Given the description of an element on the screen output the (x, y) to click on. 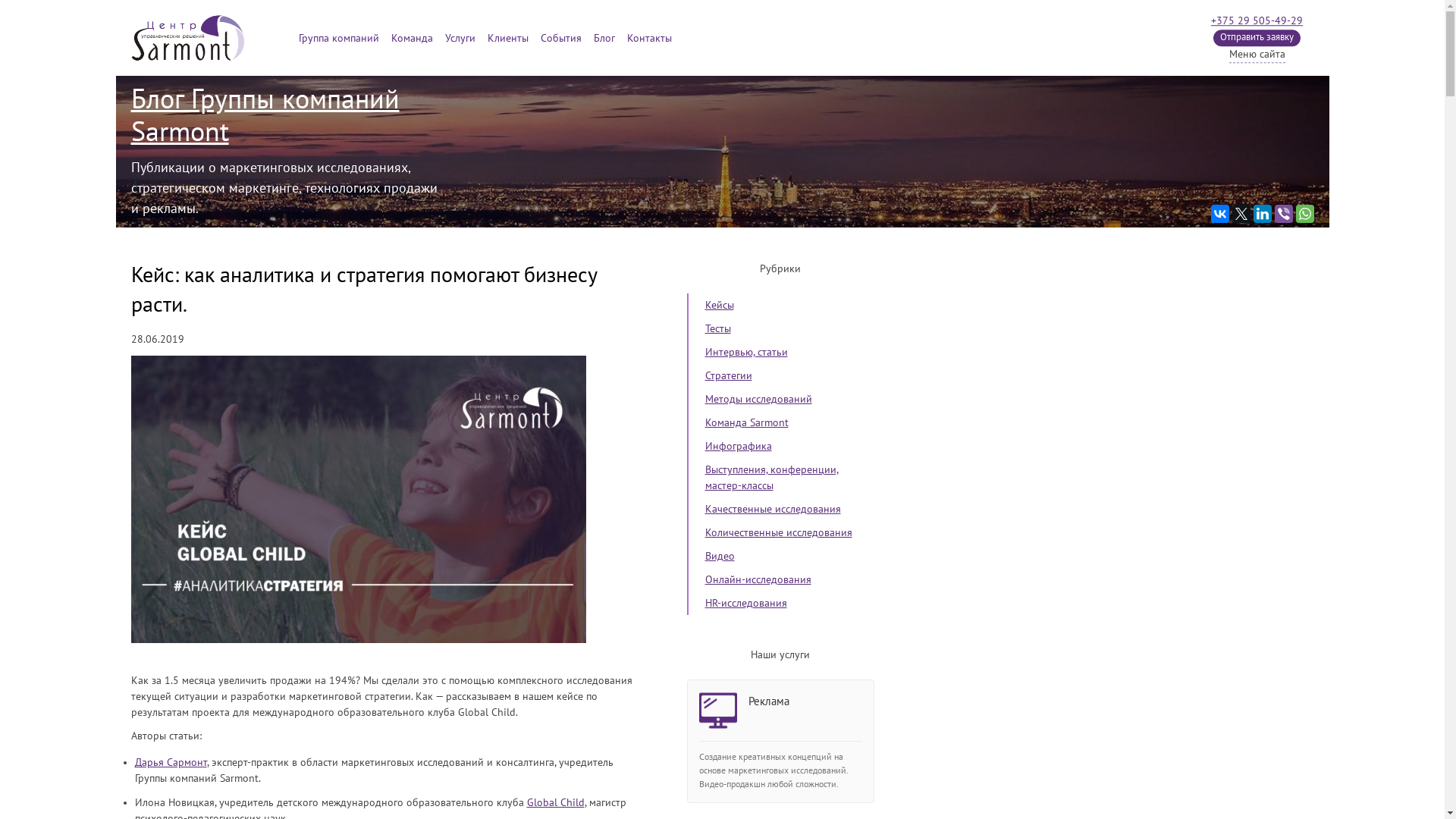
+375 29 505-49-29 Element type: text (1256, 20)
WhatsApp Element type: hover (1304, 213)
Twitter Element type: hover (1240, 213)
Global Child Element type: text (554, 802)
Viber Element type: hover (1283, 213)
LinkedIn Element type: hover (1261, 213)
